Given the description of an element on the screen output the (x, y) to click on. 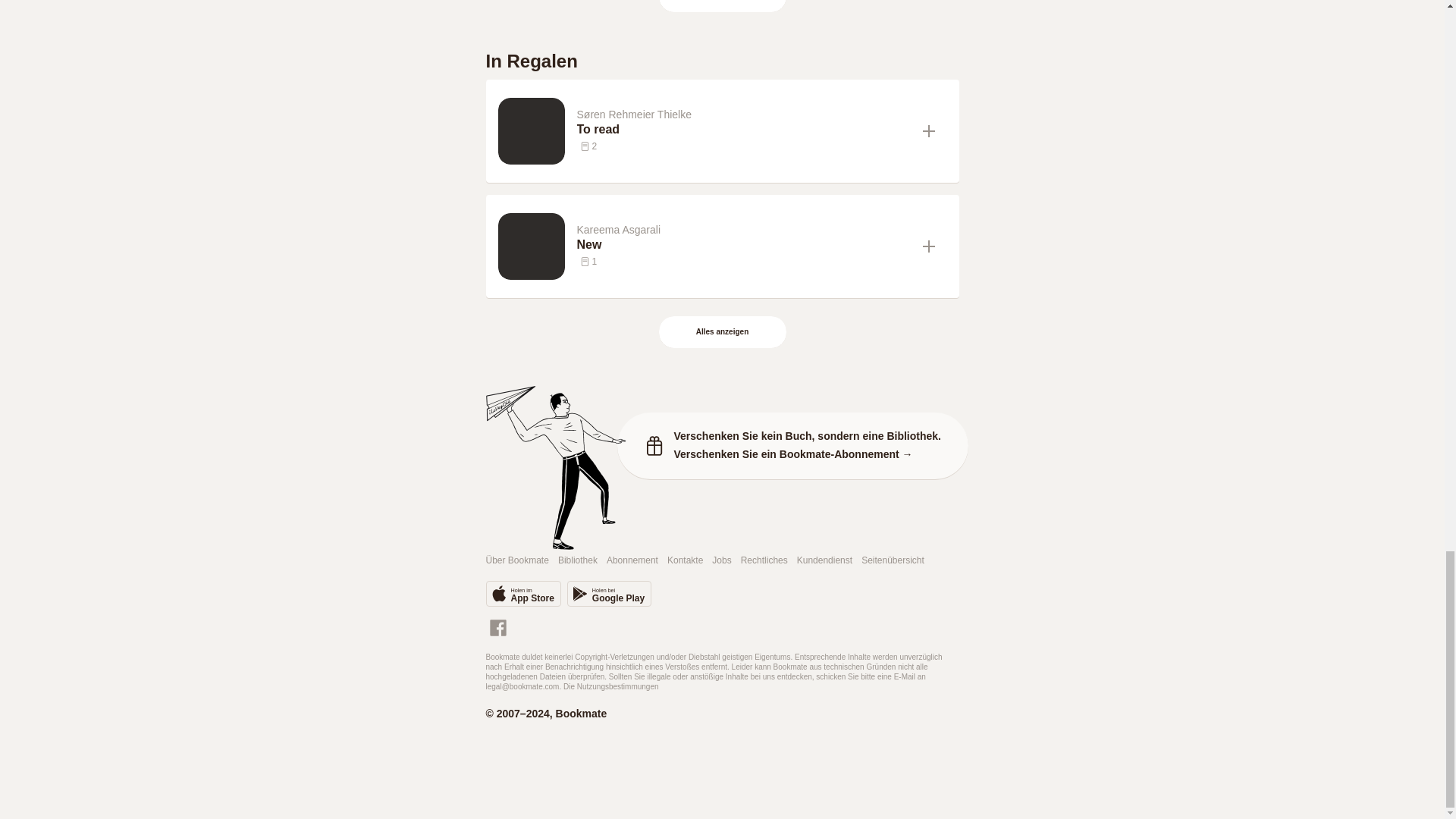
New (743, 244)
Alles anzeigen (722, 6)
Bibliothek (576, 560)
Abonnement (632, 560)
To read (743, 129)
Alles anzeigen (722, 332)
Alles anzeigen (722, 1)
Alles anzeigen (722, 331)
